Given the description of an element on the screen output the (x, y) to click on. 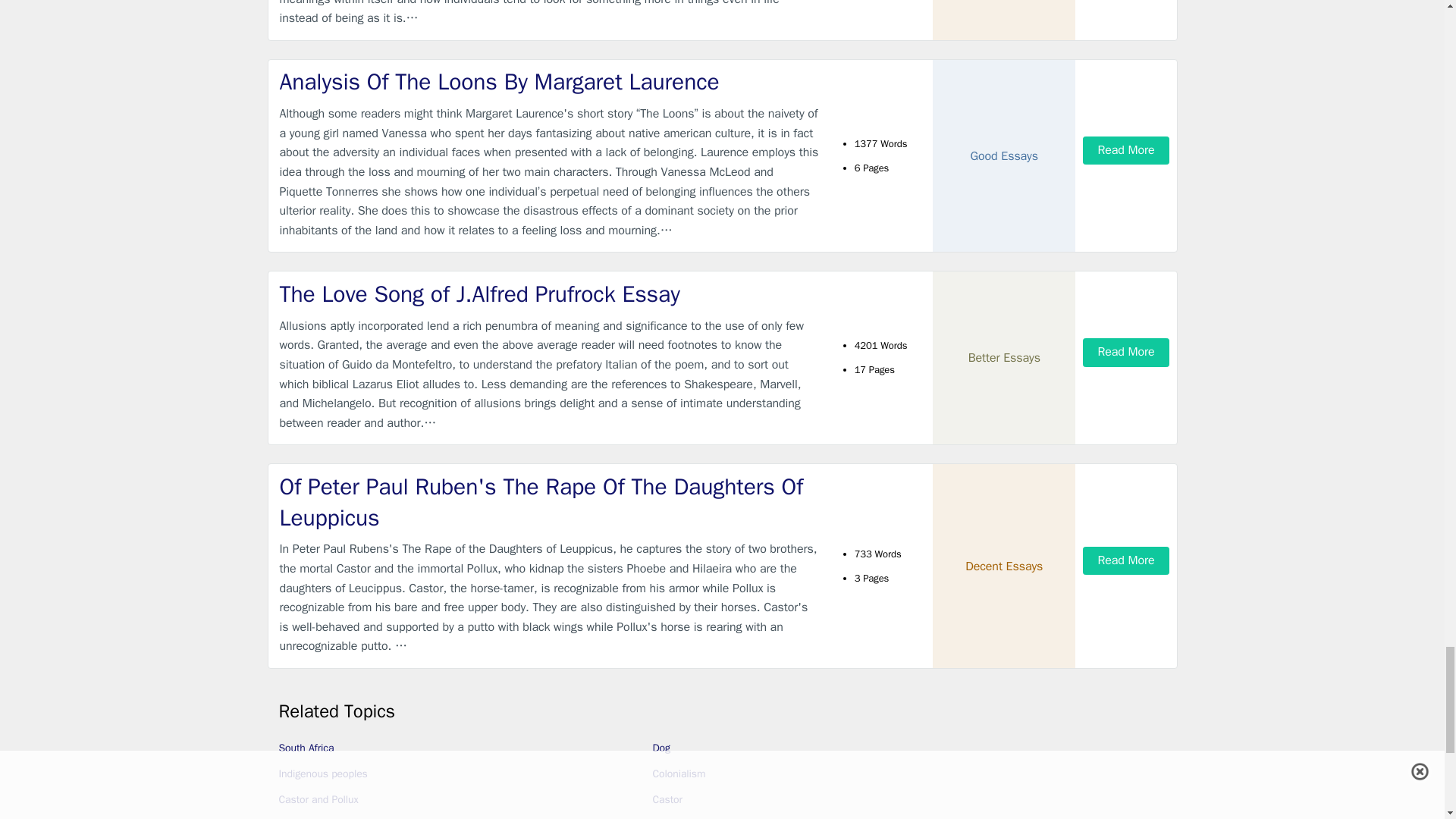
Dog (660, 748)
Castor (666, 799)
South Africa (306, 748)
Colonialism (678, 773)
Castor and Pollux (318, 799)
Indigenous peoples (323, 773)
